Given the description of an element on the screen output the (x, y) to click on. 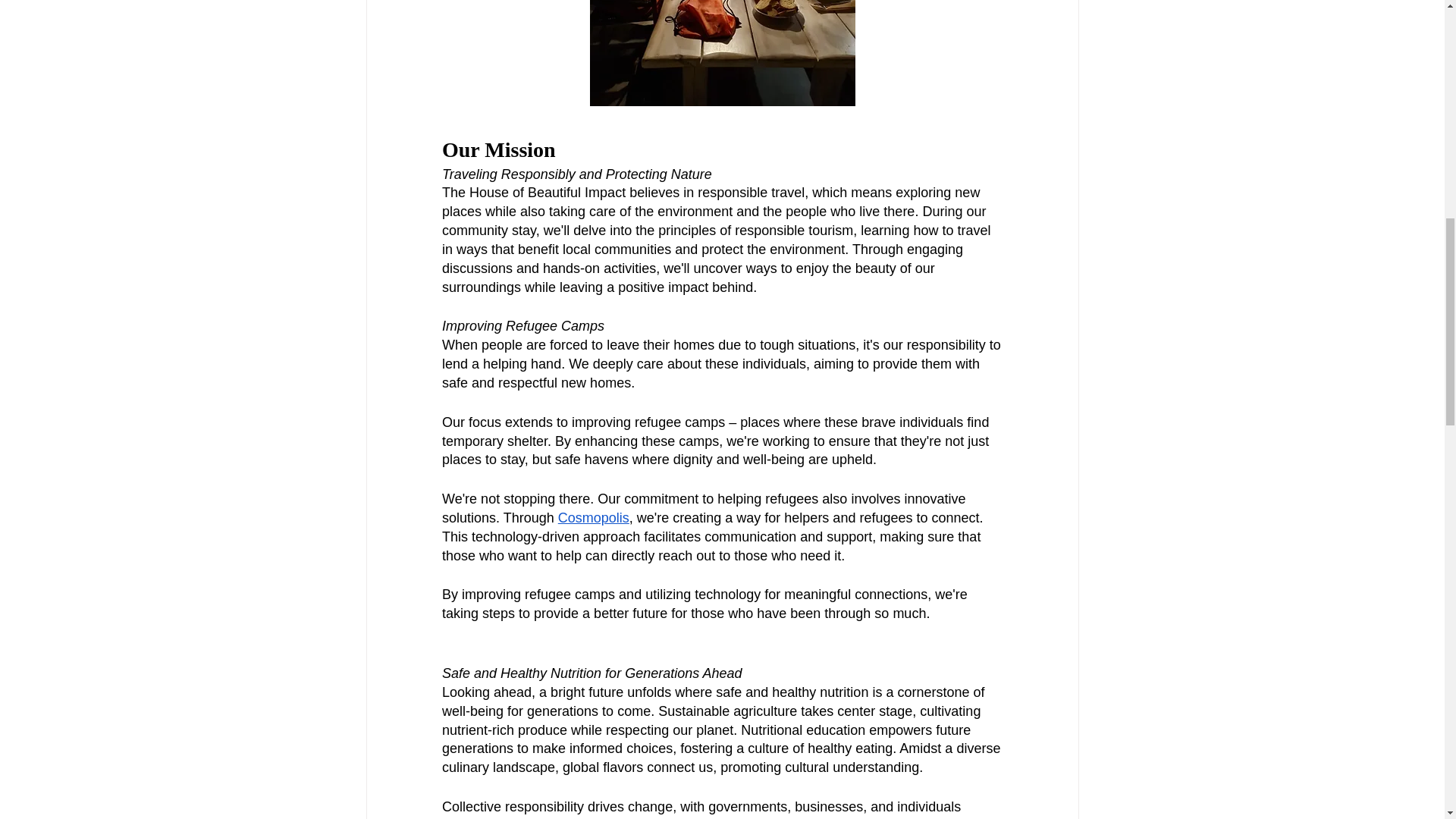
Cosmopolis (592, 517)
